Given the description of an element on the screen output the (x, y) to click on. 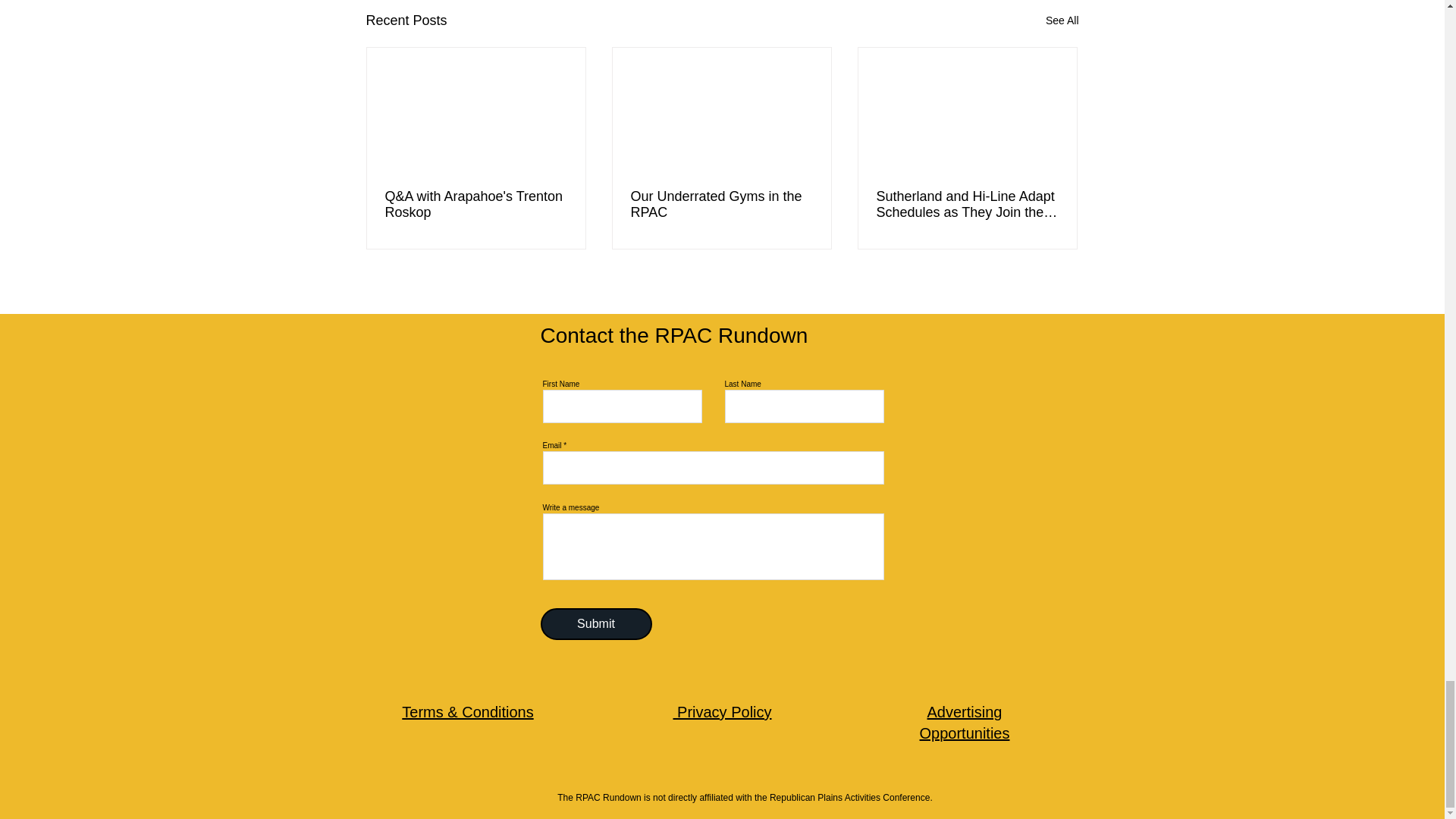
Our Underrated Gyms in the RPAC (721, 204)
See All (1061, 20)
Submit (595, 623)
Sutherland and Hi-Line Adapt Schedules as They Join the RPAC (967, 204)
